Given the description of an element on the screen output the (x, y) to click on. 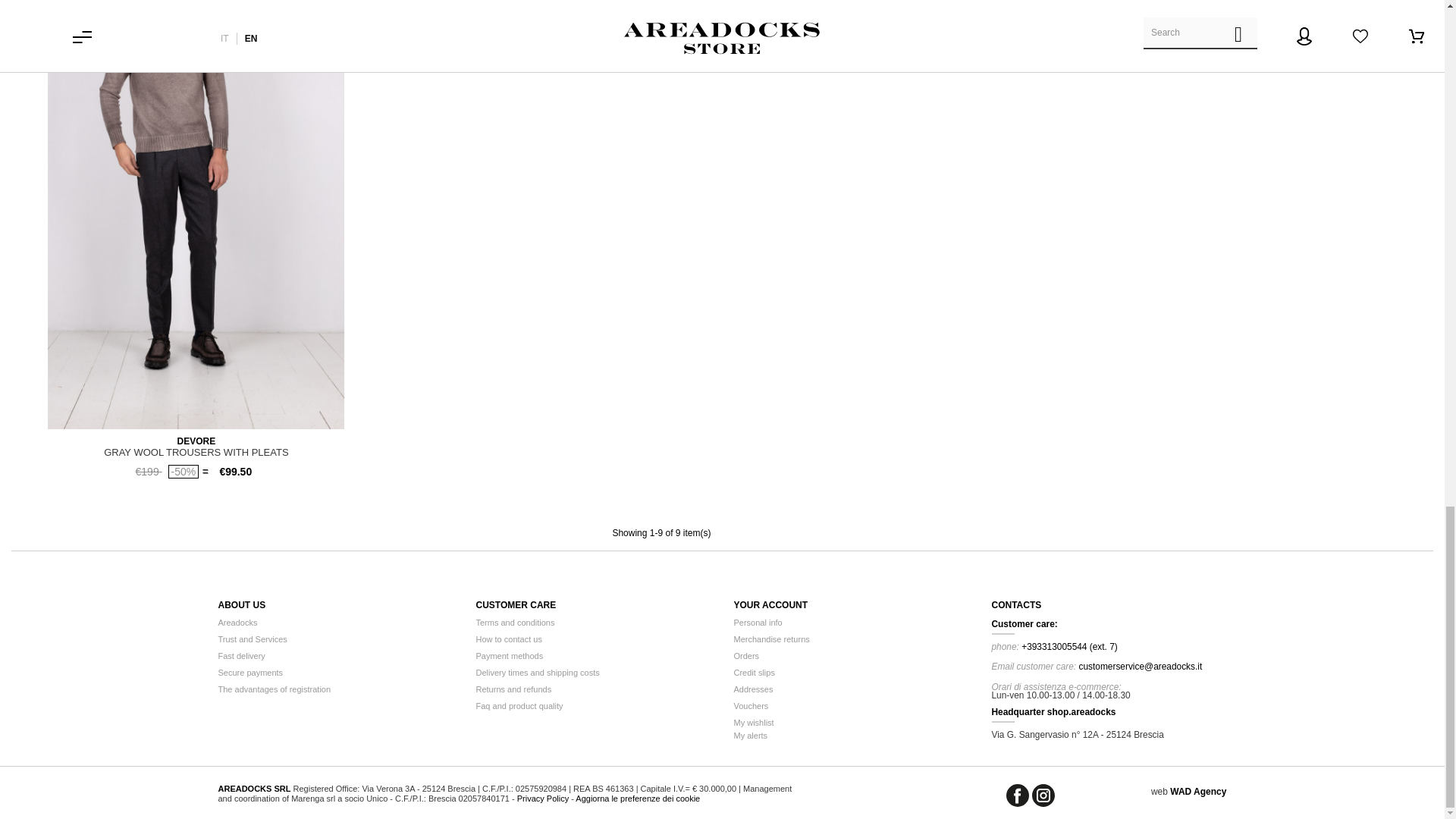
Our Terms and conditions (515, 622)
 Our secure payment method (250, 672)
Find out who we are, what Areadocks is (237, 622)
